Given the description of an element on the screen output the (x, y) to click on. 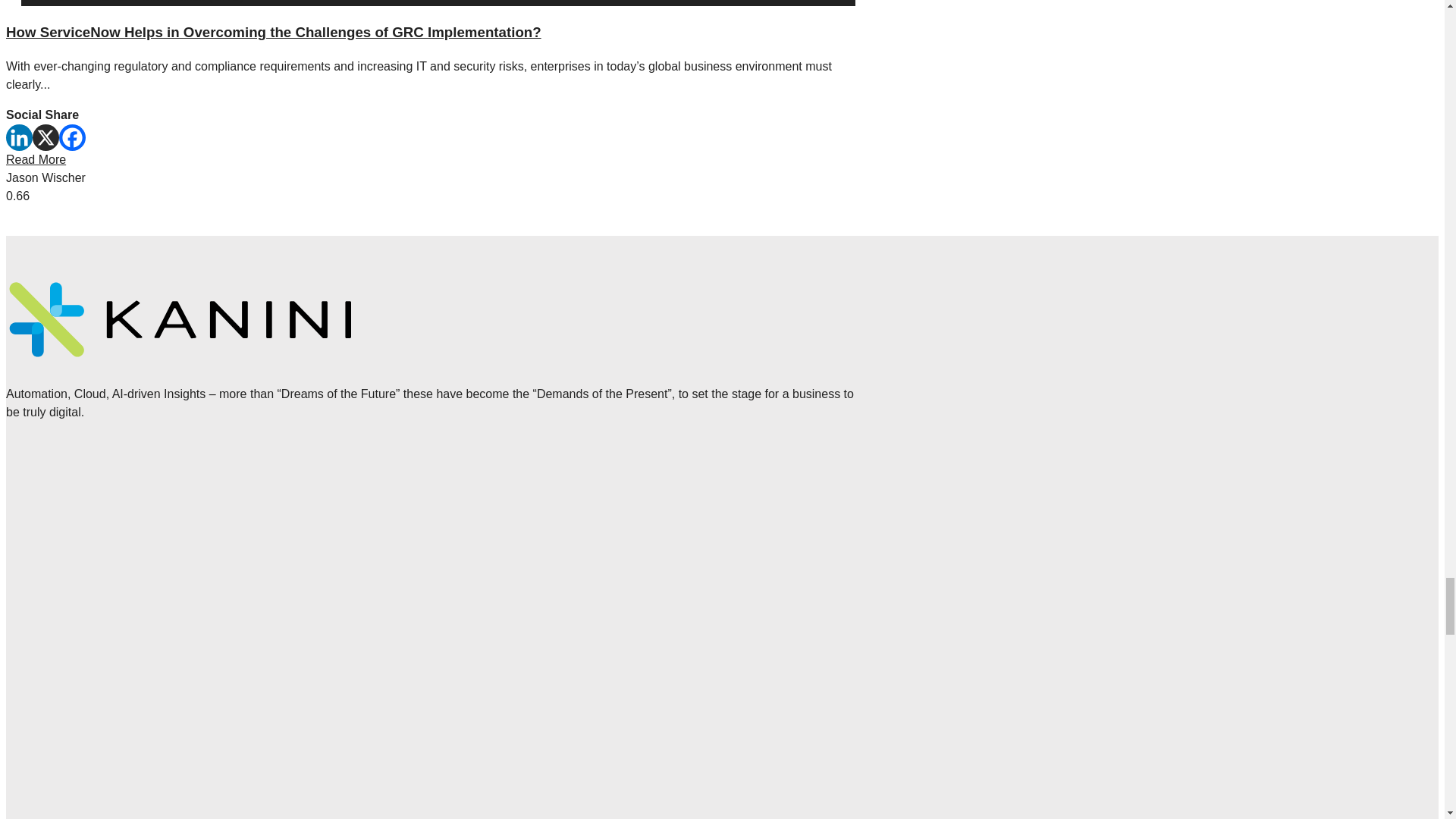
Linkedin (18, 137)
X (45, 137)
Facebook (72, 137)
